Given the description of an element on the screen output the (x, y) to click on. 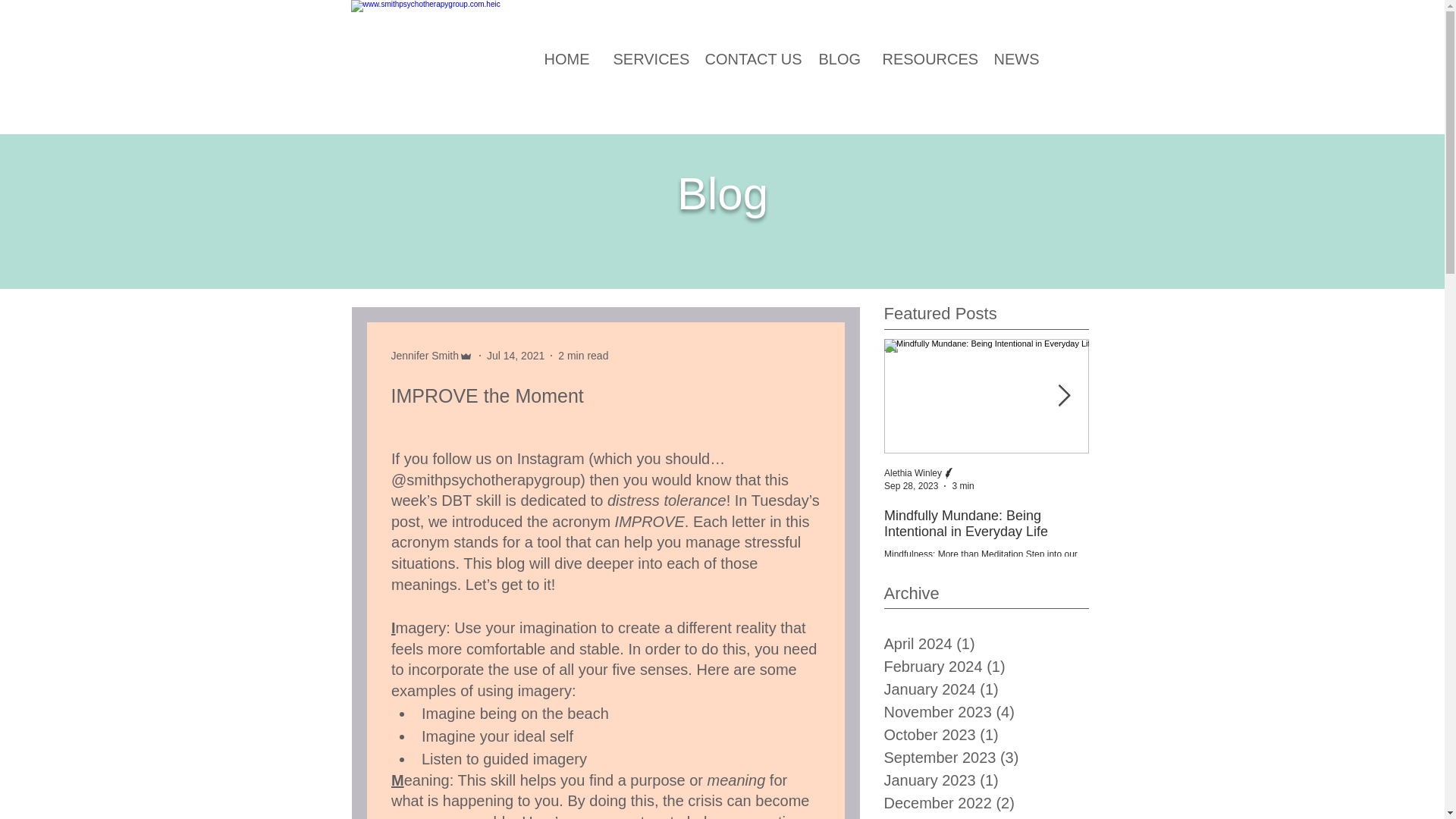
RESOURCES (925, 59)
BLOG (838, 59)
HOME (566, 59)
Mindfully Mundane: Being Intentional in Everyday Life (986, 523)
Sep 28, 2023 (910, 484)
4 min (1166, 484)
2 min read (582, 354)
Alethia Winley (912, 472)
Boundaries: What They Look Like and How to Set Them (1191, 523)
Alethia Winley (1118, 472)
3 min (963, 484)
Jul 14, 2021 (515, 354)
Sep 21, 2023 (1115, 484)
Jennifer Smith (424, 355)
NEWS (1015, 59)
